Given the description of an element on the screen output the (x, y) to click on. 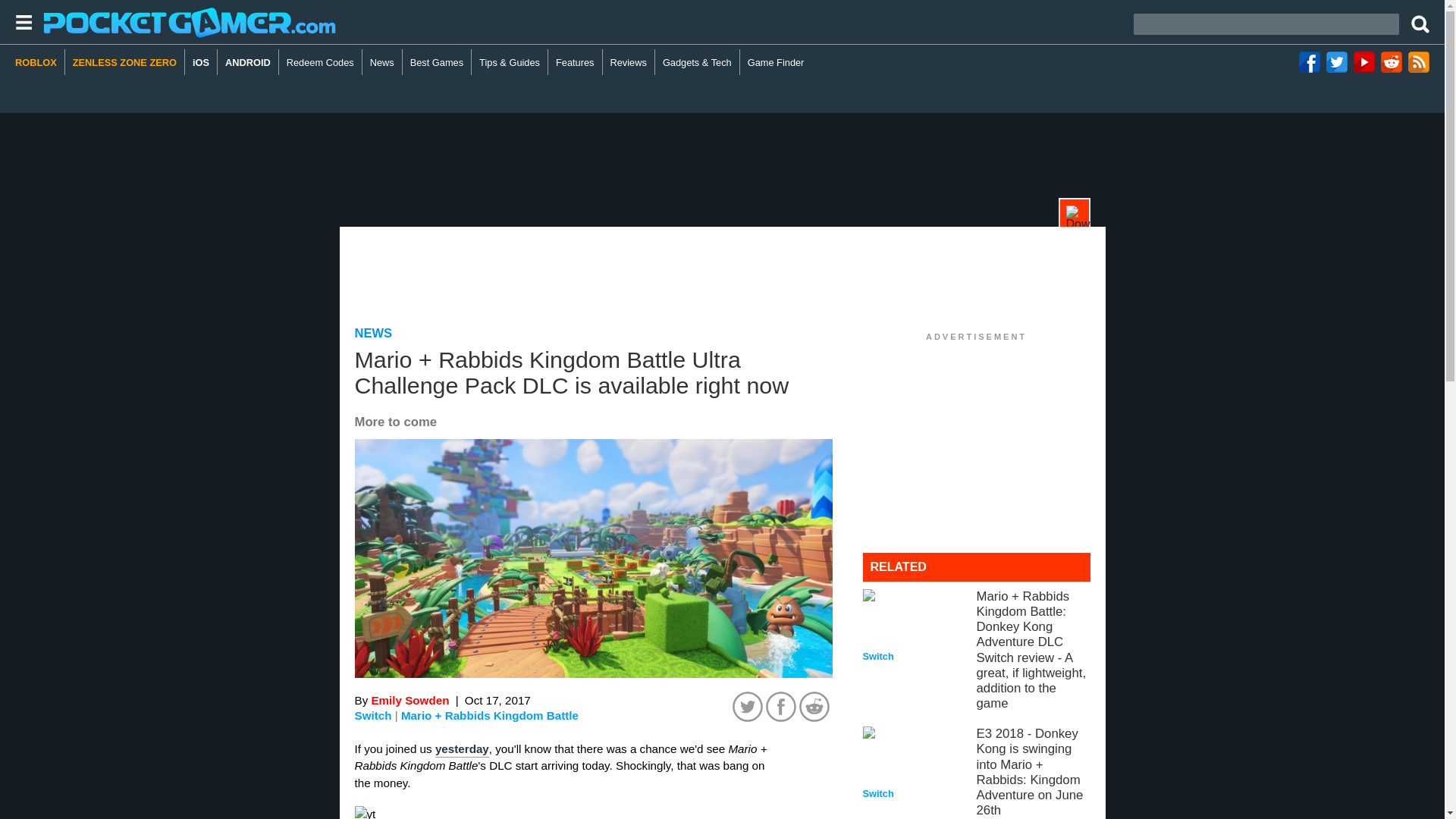
ZENLESS ZONE ZERO (124, 62)
Game Finder (775, 62)
Emily Sowden (409, 699)
Reviews (628, 62)
Features (575, 62)
yesterday (462, 749)
iOS (200, 62)
ROBLOX (39, 62)
News (382, 62)
ANDROID (247, 62)
